Given the description of an element on the screen output the (x, y) to click on. 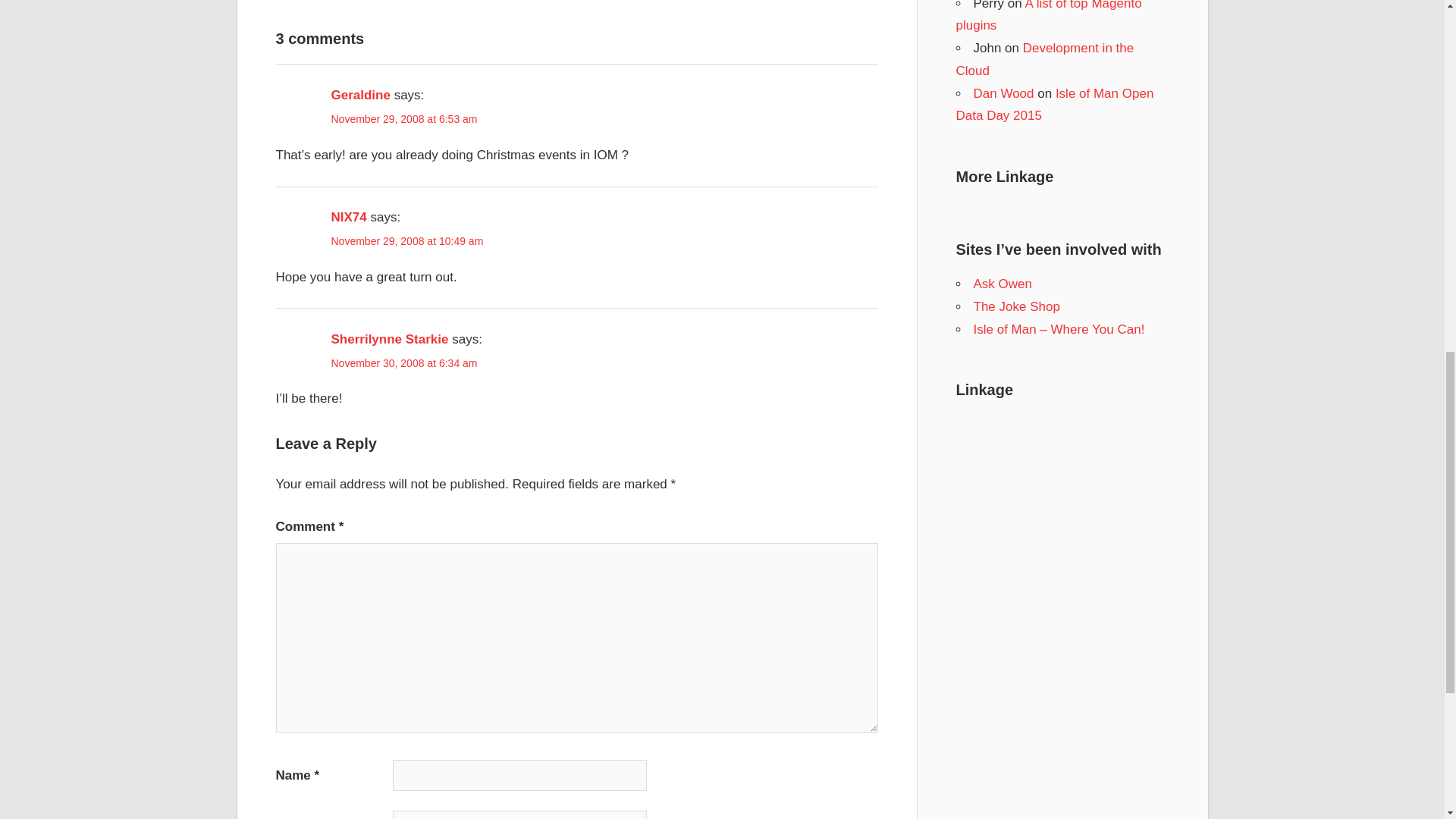
Dan Wood (1003, 93)
NIX74 (348, 216)
Ask Owen (1003, 283)
A list of top Magento plugins (1048, 16)
November 30, 2008 at 6:34 am (403, 363)
November 29, 2008 at 6:53 am (403, 119)
November 29, 2008 at 10:49 am (406, 241)
Isle of Man Open Data Day 2015 (1054, 104)
Development in the Cloud (1044, 58)
The Joke Shop (1016, 306)
